Given the description of an element on the screen output the (x, y) to click on. 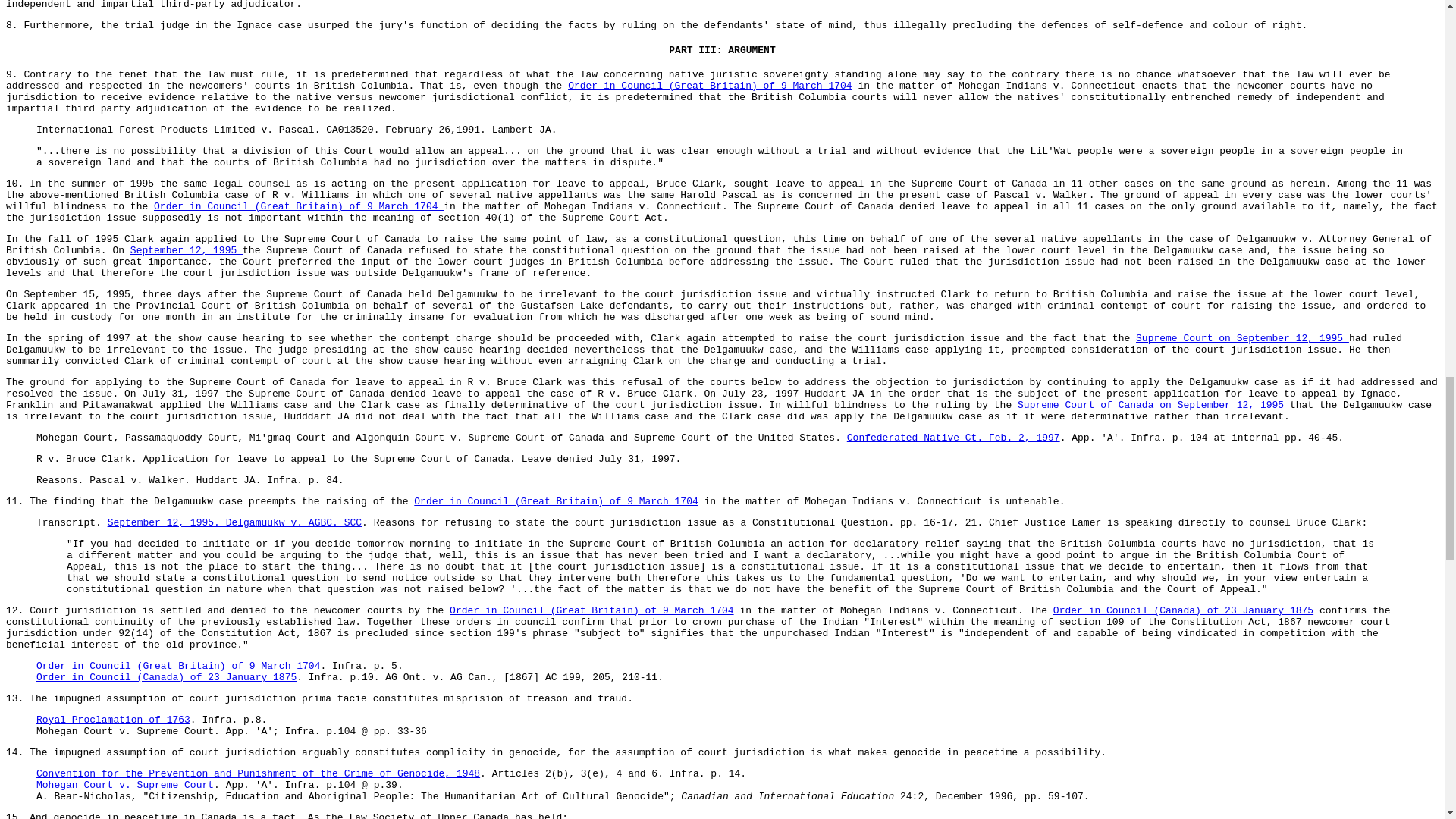
Royal Proclamation of 1763 (113, 719)
Confederated Native Ct. Feb. 2, 1997 (953, 437)
Supreme Court of Canada on September 12, 1995 (1150, 405)
September 12, 1995. Delgamuukw v. AGBC. SCC (234, 522)
Mohegan Court v. Supreme Court (125, 785)
September 12, 1995 (187, 250)
Supreme Court on September 12, 1995 (1242, 337)
